Given the description of an element on the screen output the (x, y) to click on. 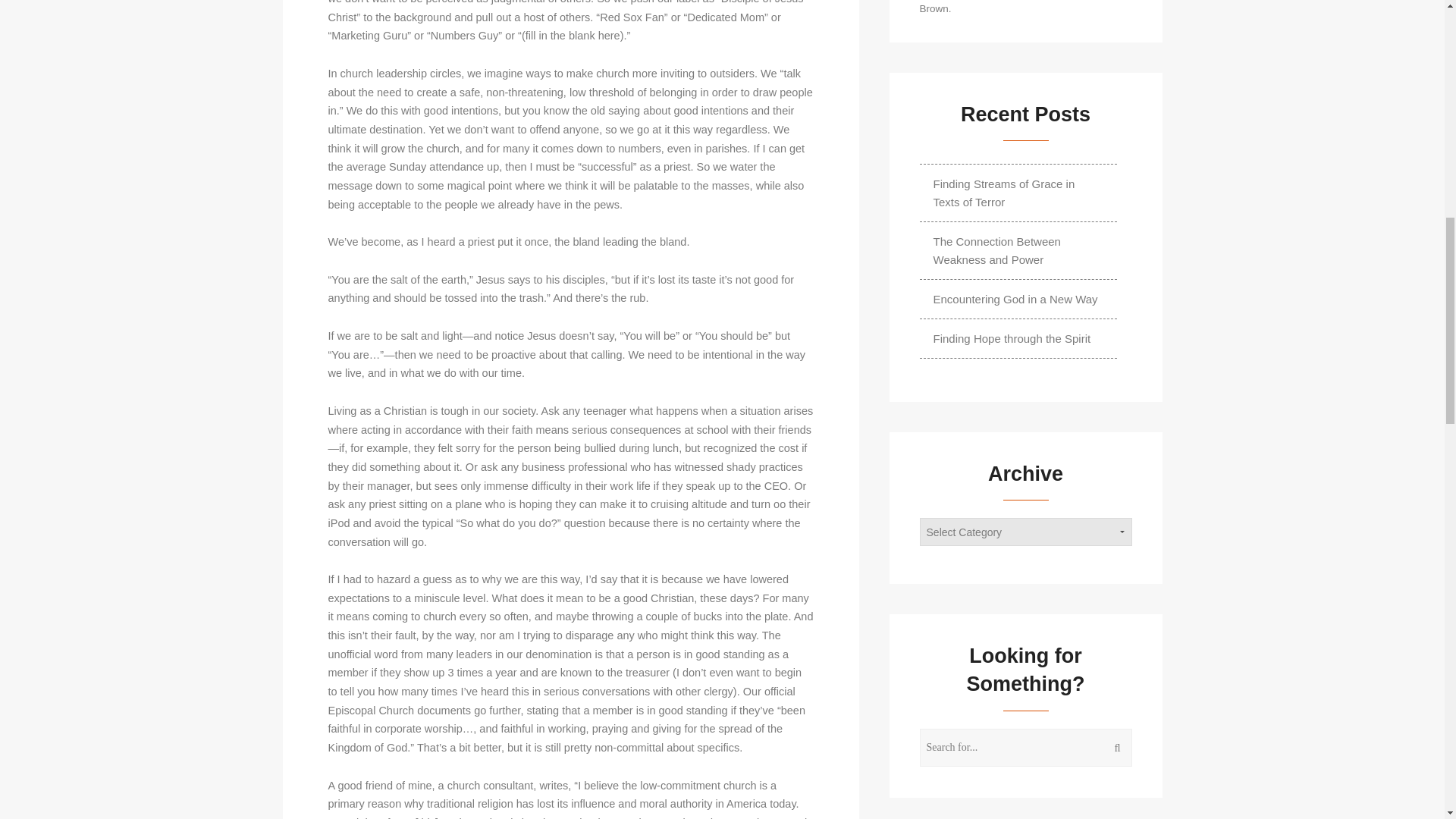
Search for... (1026, 747)
Finding Hope through the Spirit (1012, 338)
The Connection Between Weakness and Power (1018, 250)
Search for... (1026, 747)
Encountering God in a New Way (1016, 299)
Finding Streams of Grace in Texts of Terror (1018, 192)
